Given the description of an element on the screen output the (x, y) to click on. 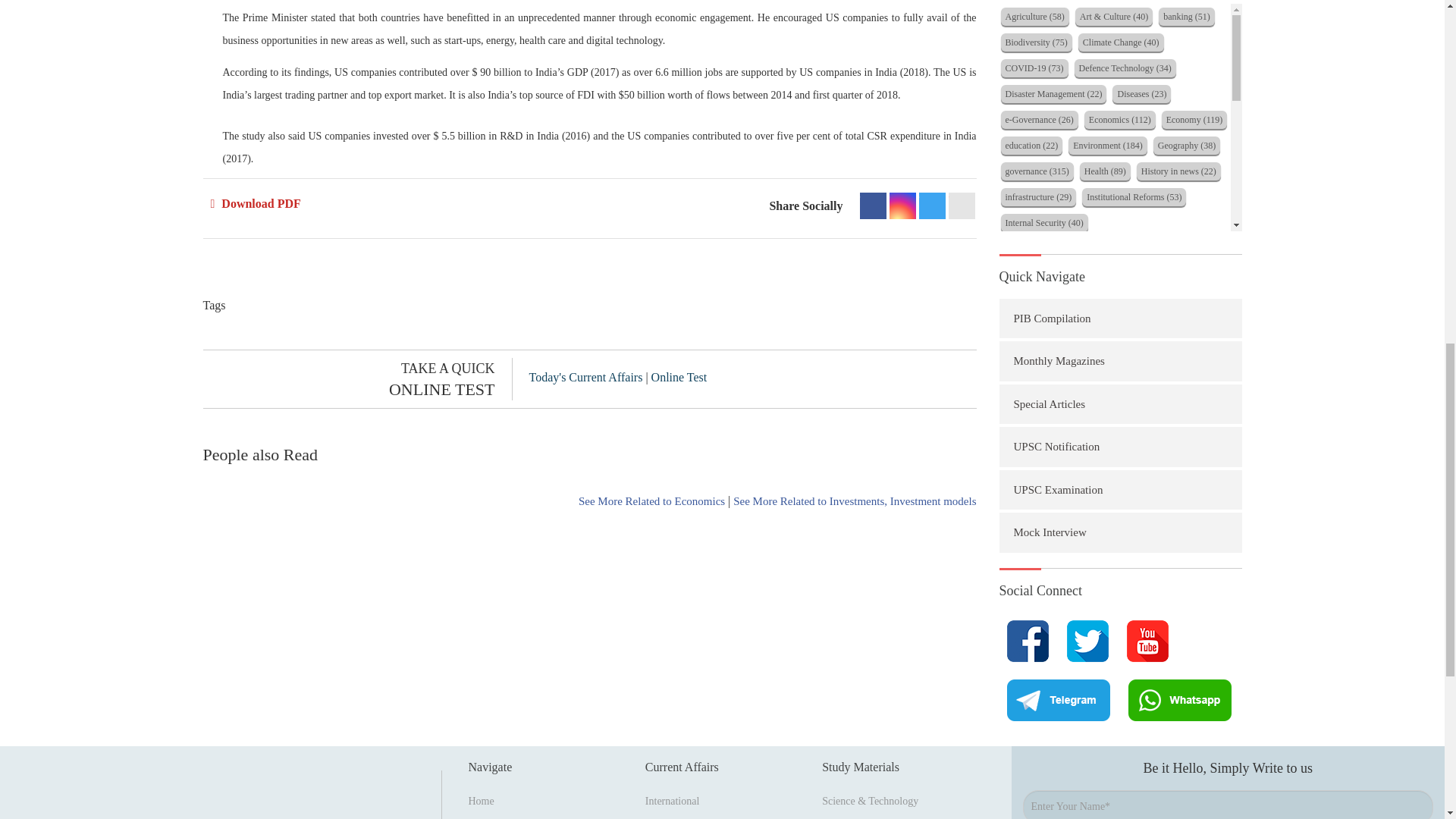
Google Gmail (960, 205)
Instagram (901, 205)
Telegram (931, 205)
Facebook (873, 205)
